Given the description of an element on the screen output the (x, y) to click on. 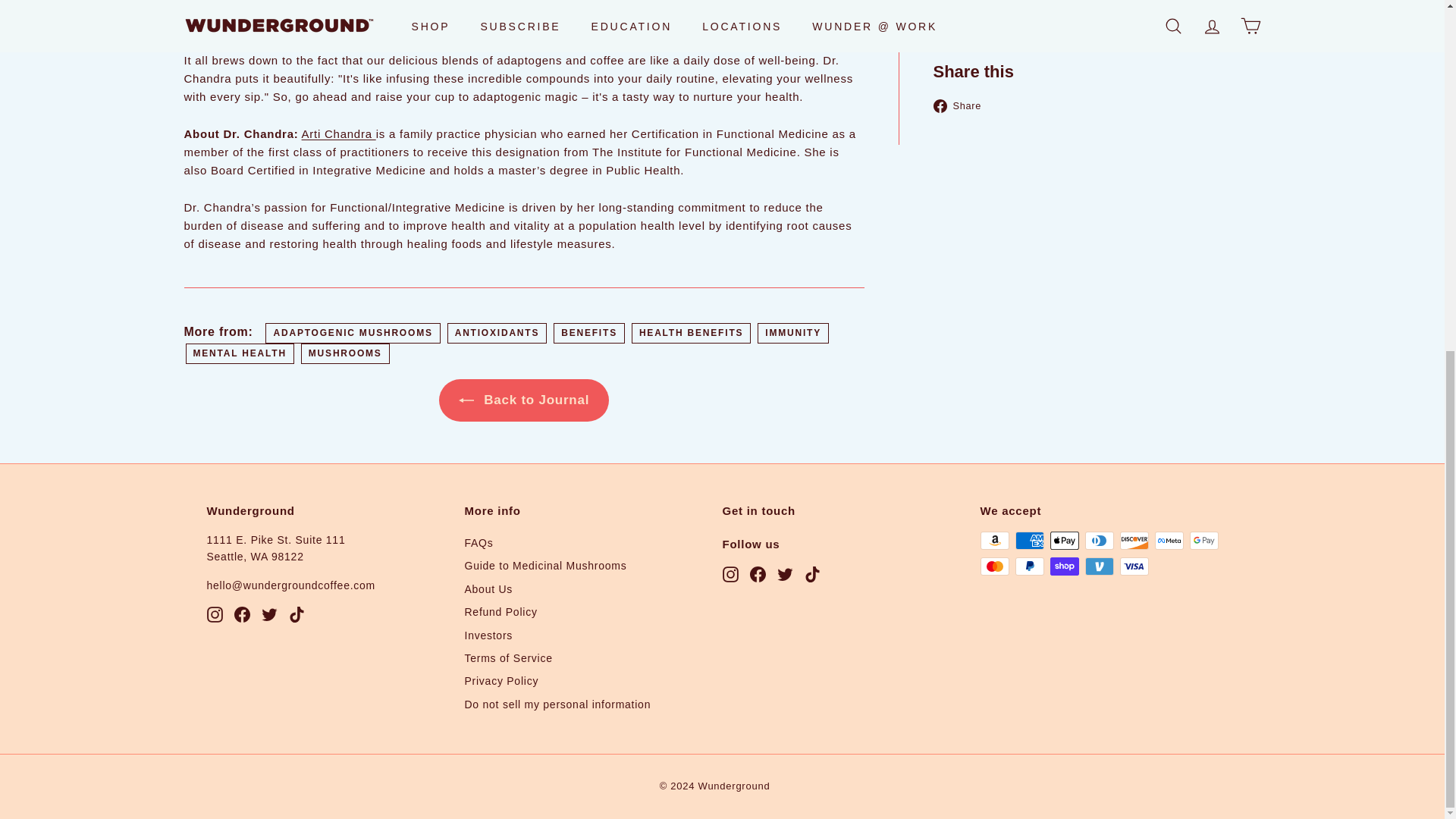
Wunderground on Facebook (240, 613)
Wunderground on Facebook (757, 573)
Wunderground on TikTok (811, 573)
American Express (1028, 540)
Apple Pay (1063, 540)
Wunderground on Twitter (784, 573)
Wunderground on Instagram (214, 613)
Wunderground on Instagram (730, 573)
Wunderground on Twitter (268, 613)
Share on Facebook (962, 105)
Amazon (994, 540)
Wunderground on TikTok (296, 613)
